Given the description of an element on the screen output the (x, y) to click on. 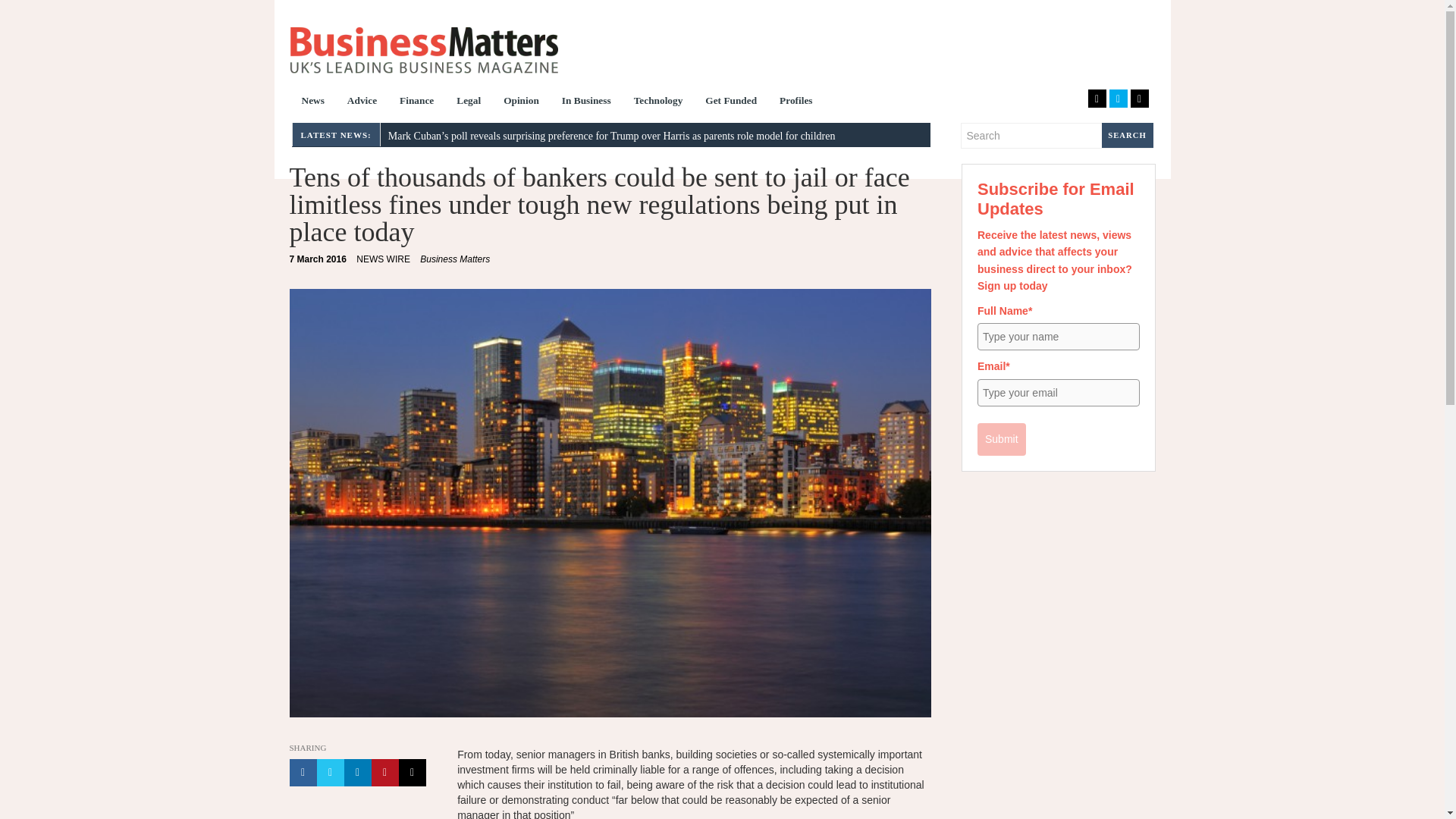
NEWS WIRE (383, 258)
In Business (586, 101)
Technology (658, 101)
7 March 2016 (317, 258)
Advice (362, 101)
Business Matters (423, 50)
News (311, 101)
Finance (416, 101)
Profiles (796, 101)
Legal (468, 101)
